Given the description of an element on the screen output the (x, y) to click on. 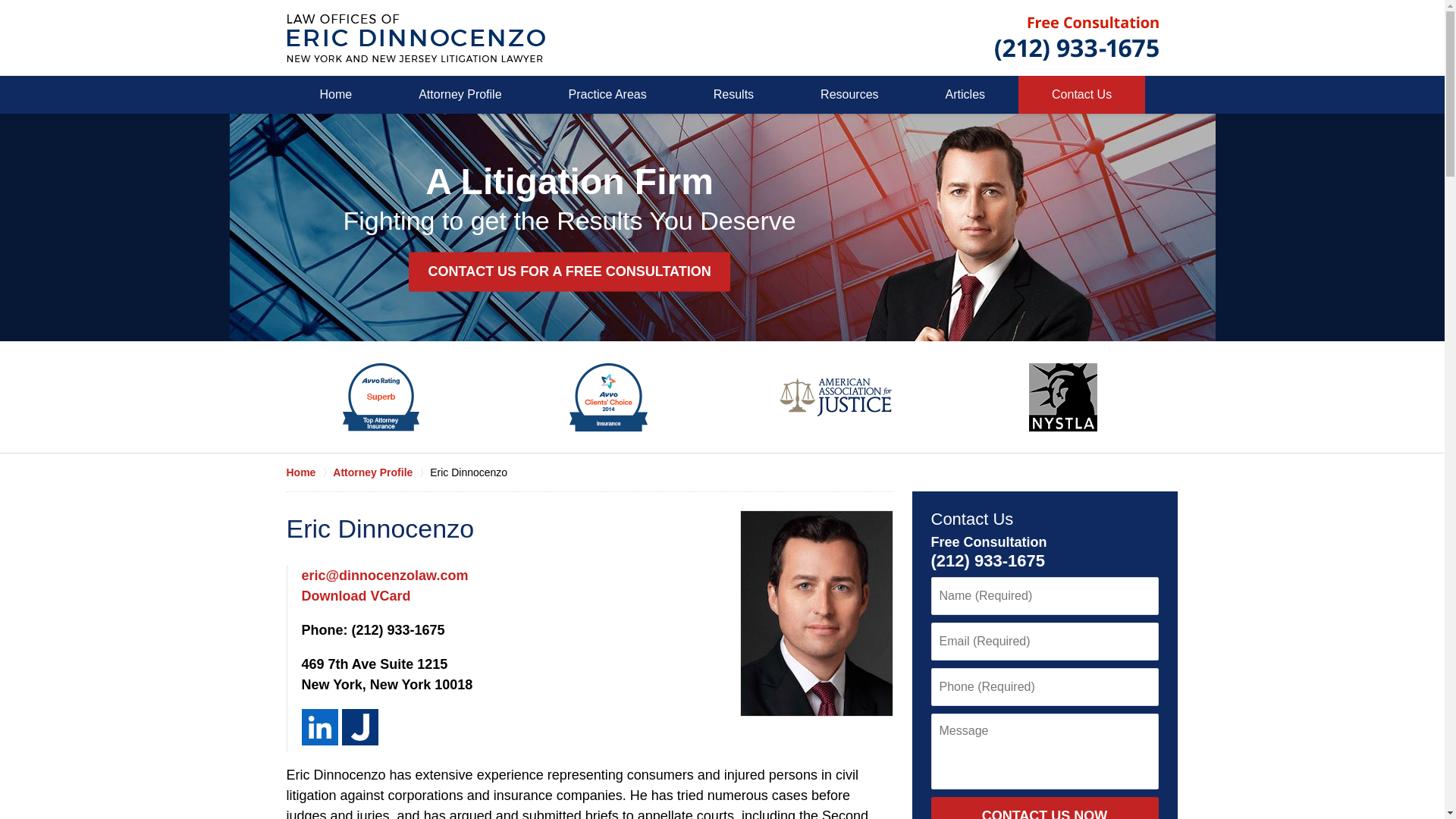
Results (733, 94)
CONTACT US FOR A FREE CONSULTATION (569, 271)
New York Life Insurance Lawyer Eric Dinnocenzo Home (415, 37)
Back to Home (415, 37)
Attorney Profile (459, 94)
LinkedIn (319, 727)
Practice Areas (607, 94)
Justia (358, 727)
Download VCard (355, 595)
Contact Manhattan Litigation Lawyer Eric Dinnocenzo (1076, 37)
Articles (964, 94)
Home (309, 471)
Attorney Profile (381, 471)
Home (335, 94)
Resources (849, 94)
